Given the description of an element on the screen output the (x, y) to click on. 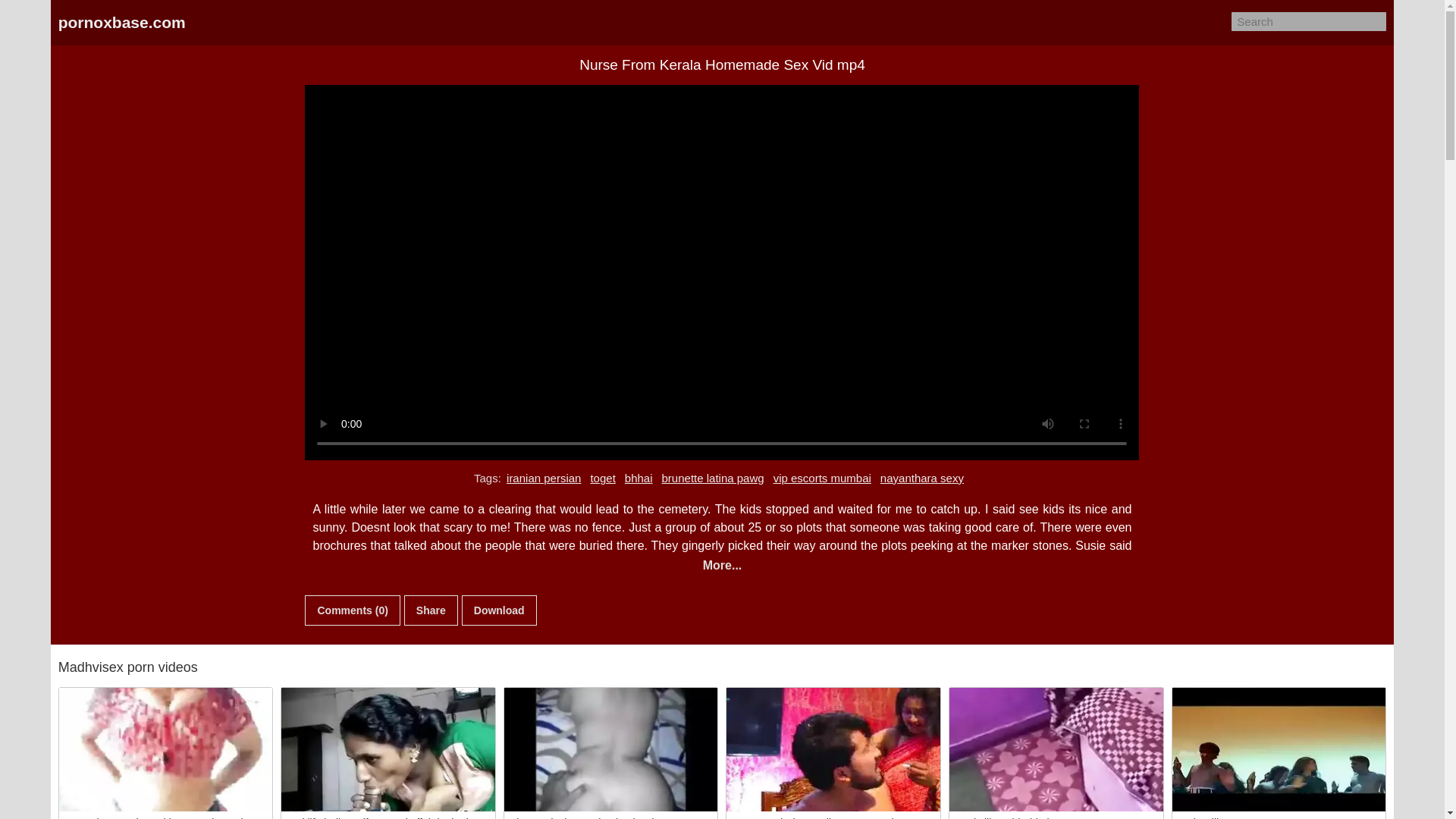
Hot Babe Dancing With Huge Tits and Navel (166, 749)
Desi village bhabi nice pussy (1056, 749)
vip escorts mumbai (822, 478)
nayanthara sexy (921, 478)
brunette latina pawg (713, 478)
Download (499, 610)
real life indian wife sexual affair leaked onlina (388, 749)
Big ass desi aunty having hardcore (610, 749)
bhhai (639, 478)
pornoxbase.com (122, 22)
